Given the description of an element on the screen output the (x, y) to click on. 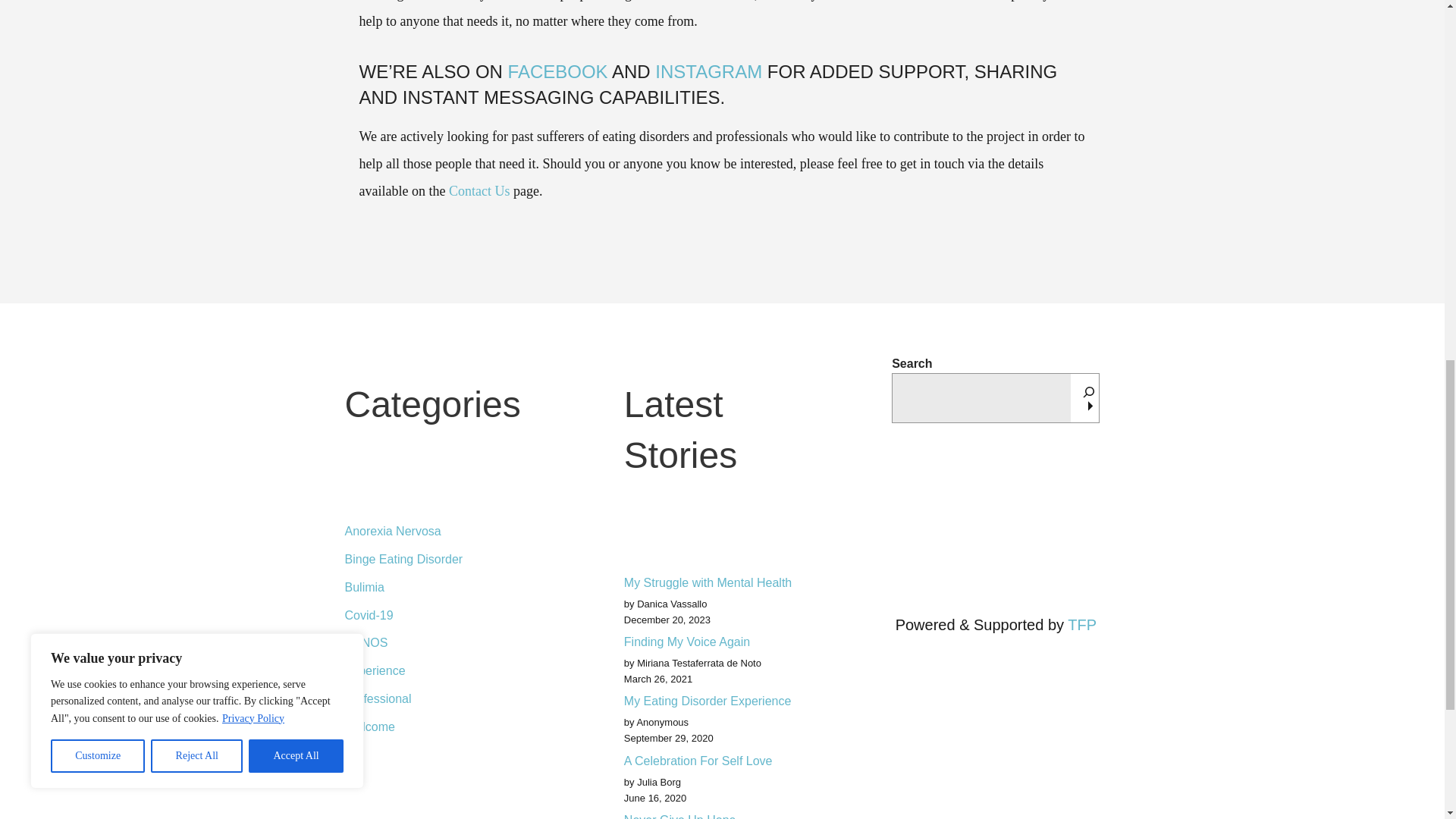
Professional (447, 698)
Anorexia Nervosa (447, 531)
FACEBOOK (558, 71)
TFP (1081, 624)
A Celebration For Self Love (722, 760)
Binge Eating Disorder (447, 560)
Welcome (447, 724)
Finding My Voice Again (722, 642)
Covid-19 (447, 615)
INSTAGRAM (708, 71)
